Given the description of an element on the screen output the (x, y) to click on. 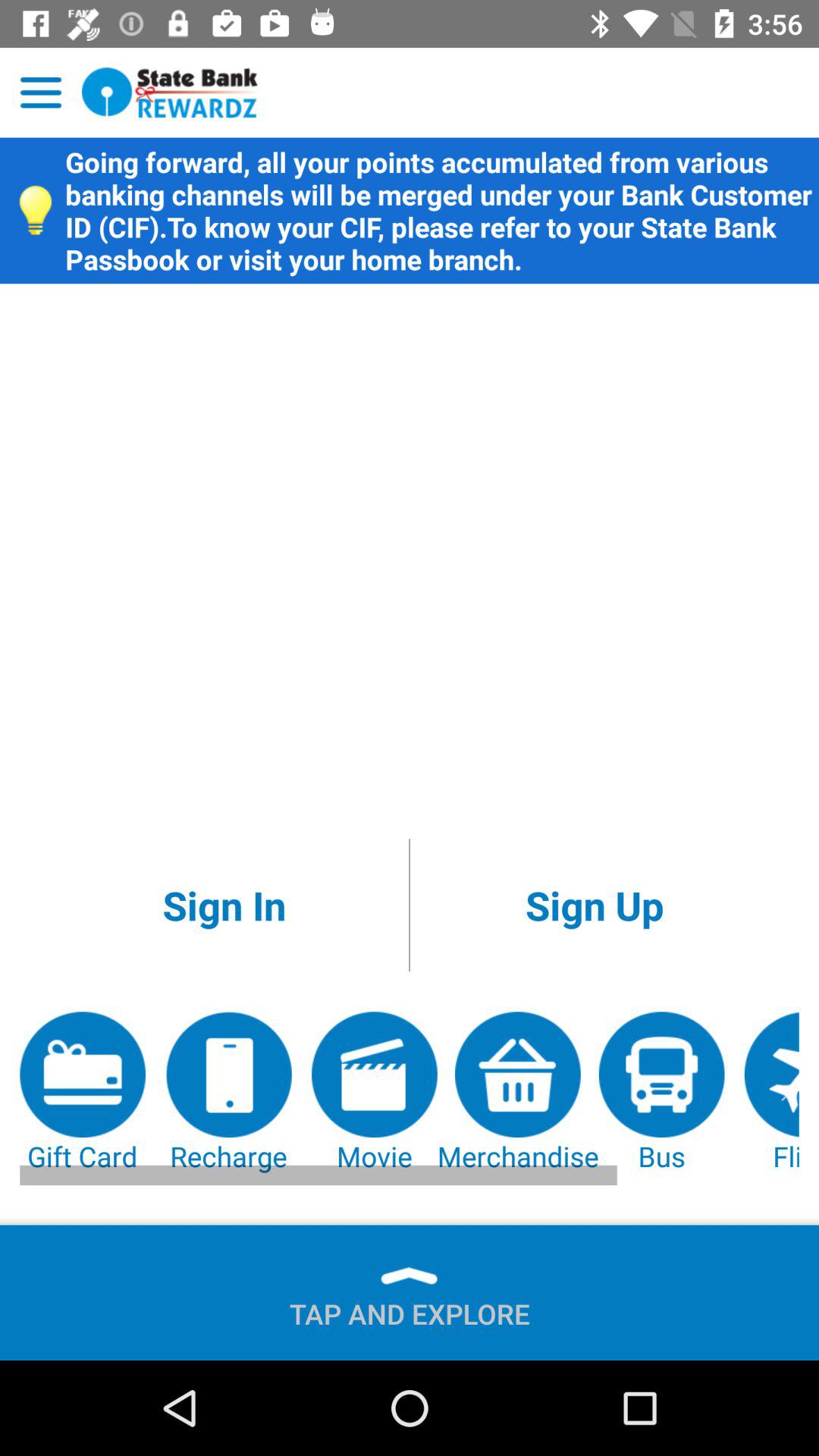
turn off item below sign up (517, 1093)
